Given the description of an element on the screen output the (x, y) to click on. 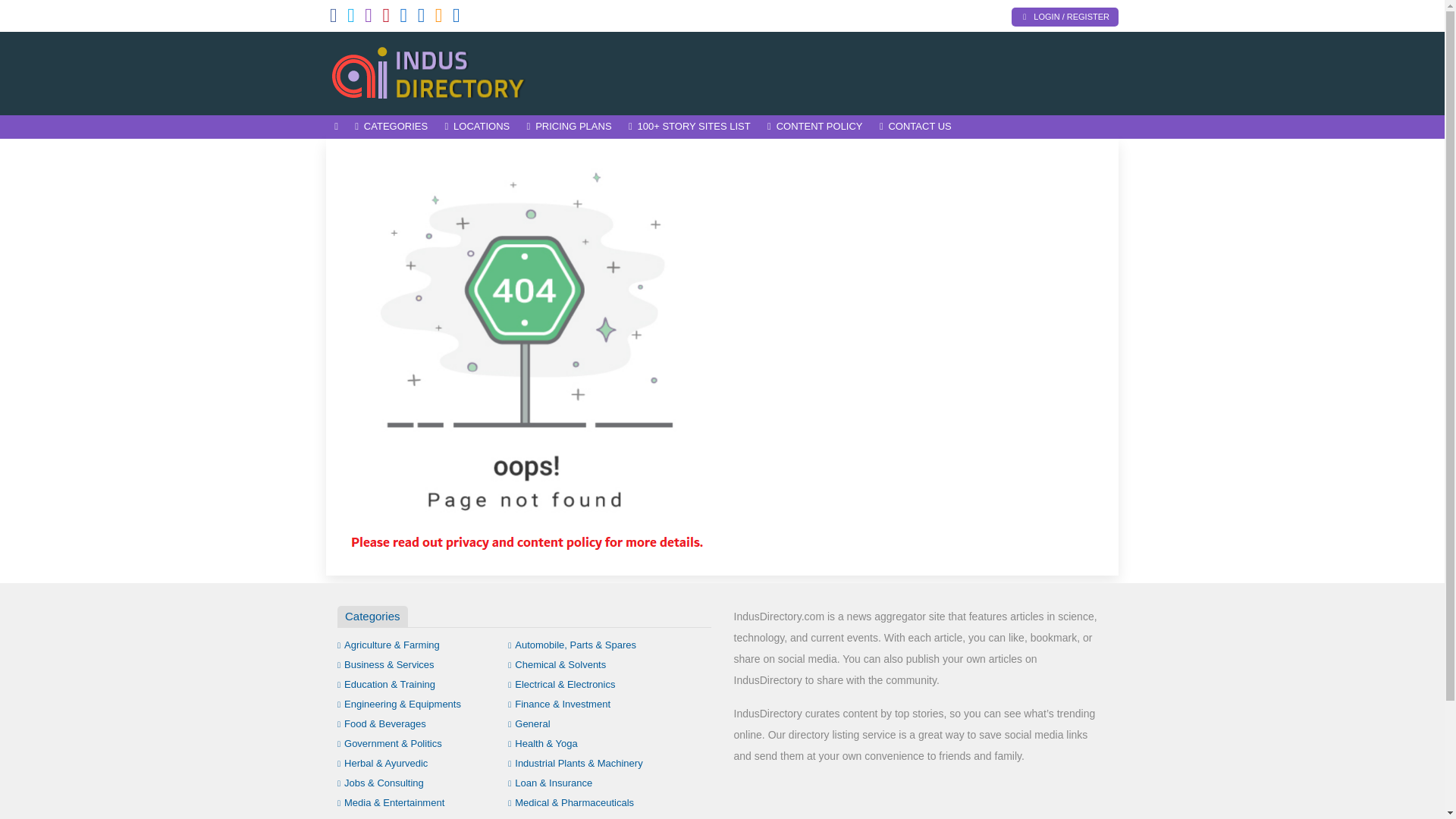
CONTENT POLICY (814, 126)
CATEGORIES (390, 126)
LOCATIONS (476, 126)
General (529, 723)
CONTACT US (914, 126)
PRICING PLANS (569, 126)
